Given the description of an element on the screen output the (x, y) to click on. 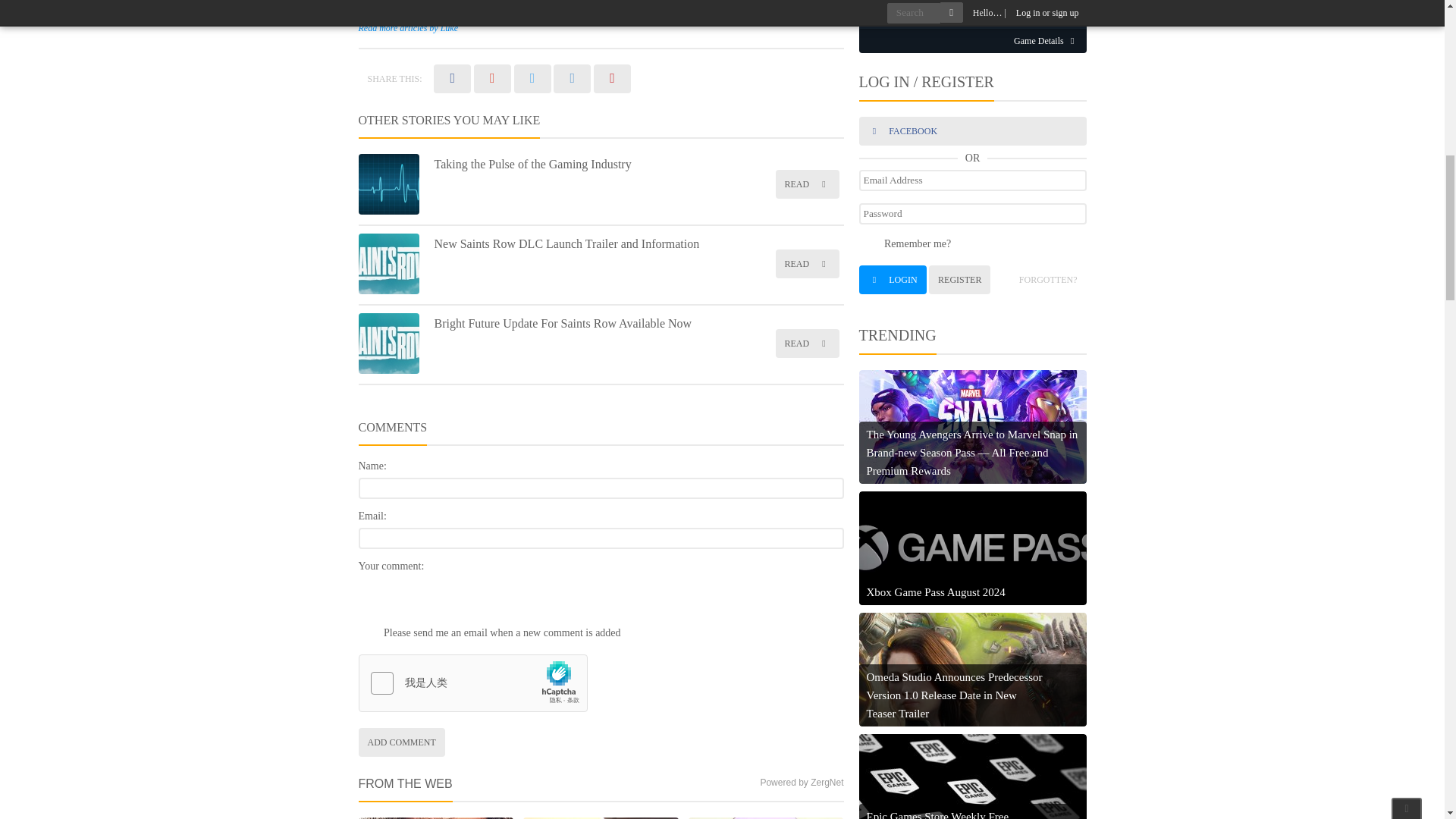
READ (806, 263)
New Saints Row DLC Launch Trailer and Information (565, 243)
Read more articles by Luke (408, 27)
READ (806, 343)
READ (806, 184)
Taking the Pulse of the Gaming Industry (531, 164)
Bright Future Update For Saints Row Available Now (562, 323)
